Given the description of an element on the screen output the (x, y) to click on. 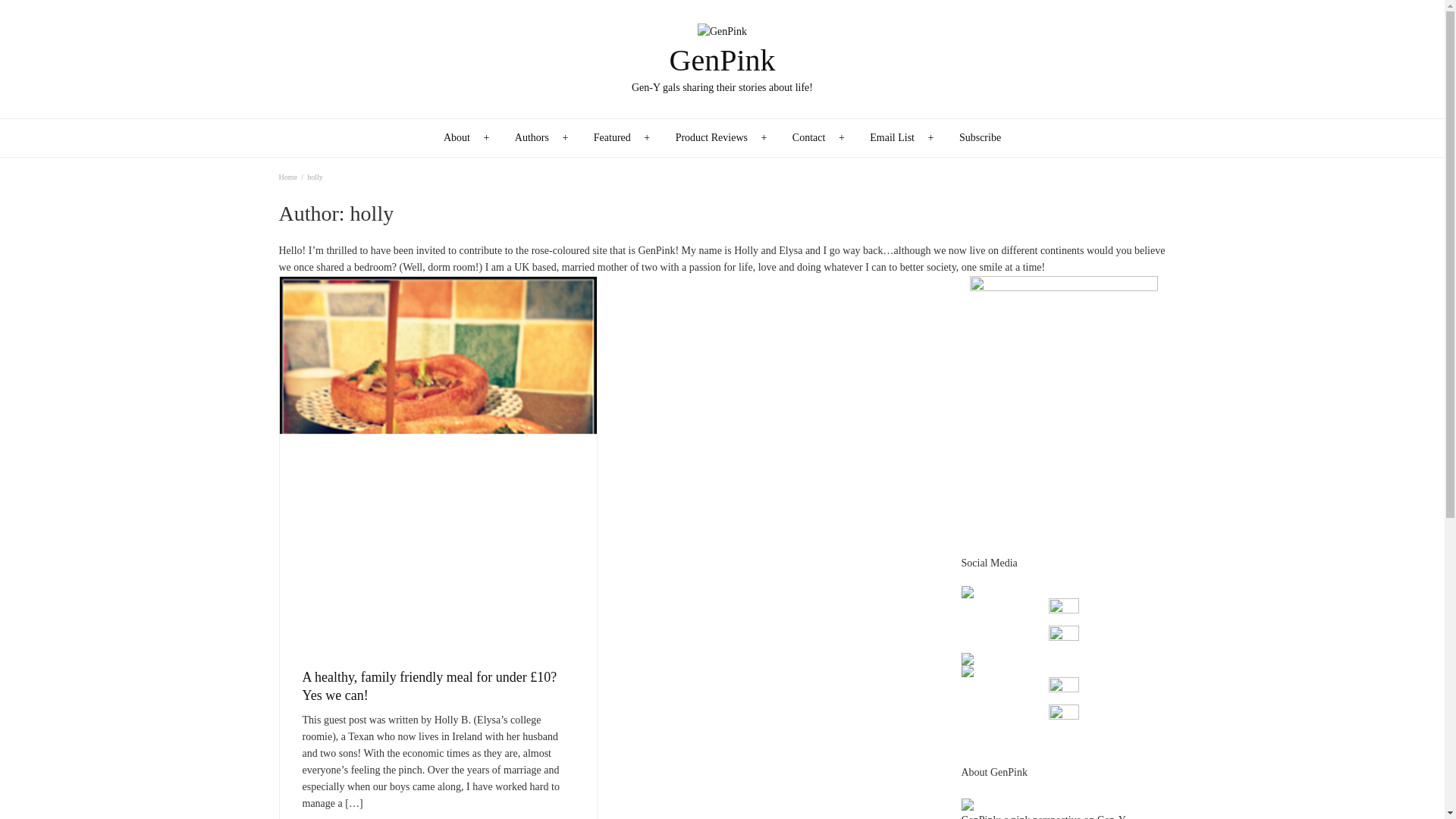
Subscribe (979, 137)
Subscribe (979, 137)
Home (288, 176)
